Given the description of an element on the screen output the (x, y) to click on. 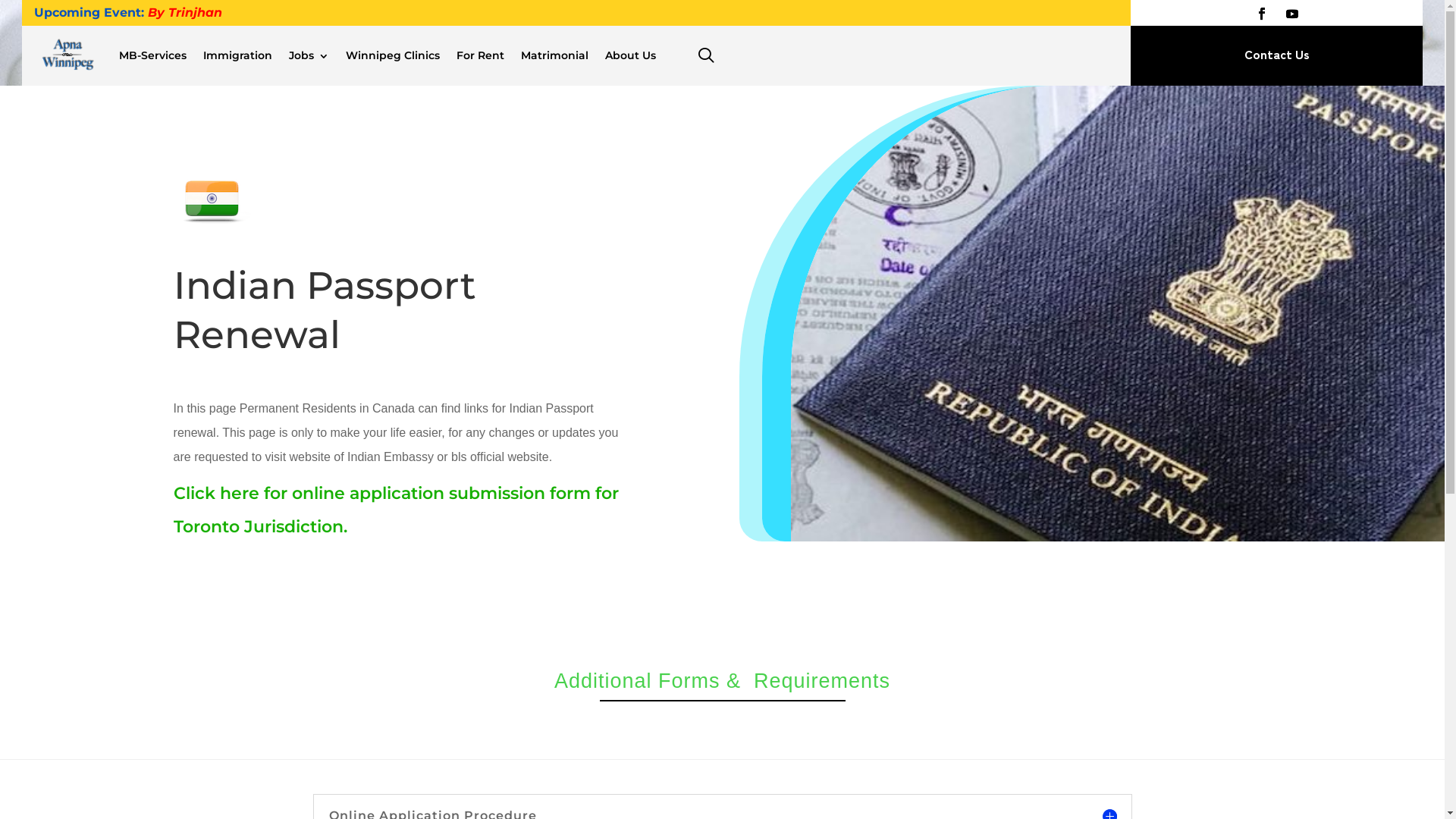
Winnipeg Clinics Element type: text (392, 55)
MB-Services Element type: text (152, 55)
passport-ind Element type: hover (1117, 312)
ind Element type: hover (212, 201)
Immigration Element type: text (237, 55)
Jobs Element type: text (308, 55)
For Rent Element type: text (480, 55)
Matrimonial Element type: text (554, 55)
About Us Element type: text (630, 55)
Follow on Facebook Element type: hover (1261, 13)
Contact Us Element type: text (1276, 54)
Follow on Youtube Element type: hover (1292, 13)
